Given the description of an element on the screen output the (x, y) to click on. 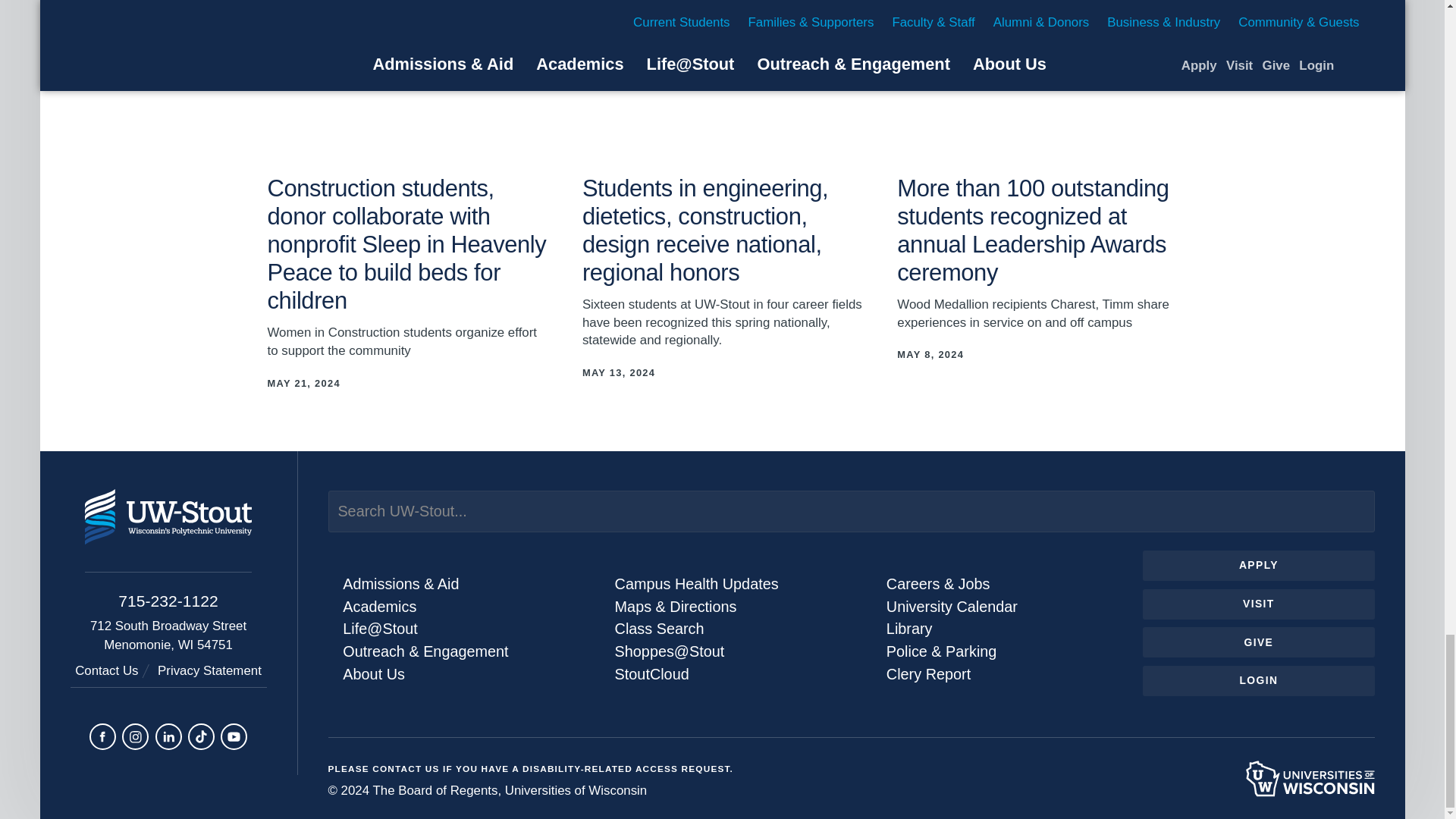
Search (1349, 509)
Search (1349, 509)
